Given the description of an element on the screen output the (x, y) to click on. 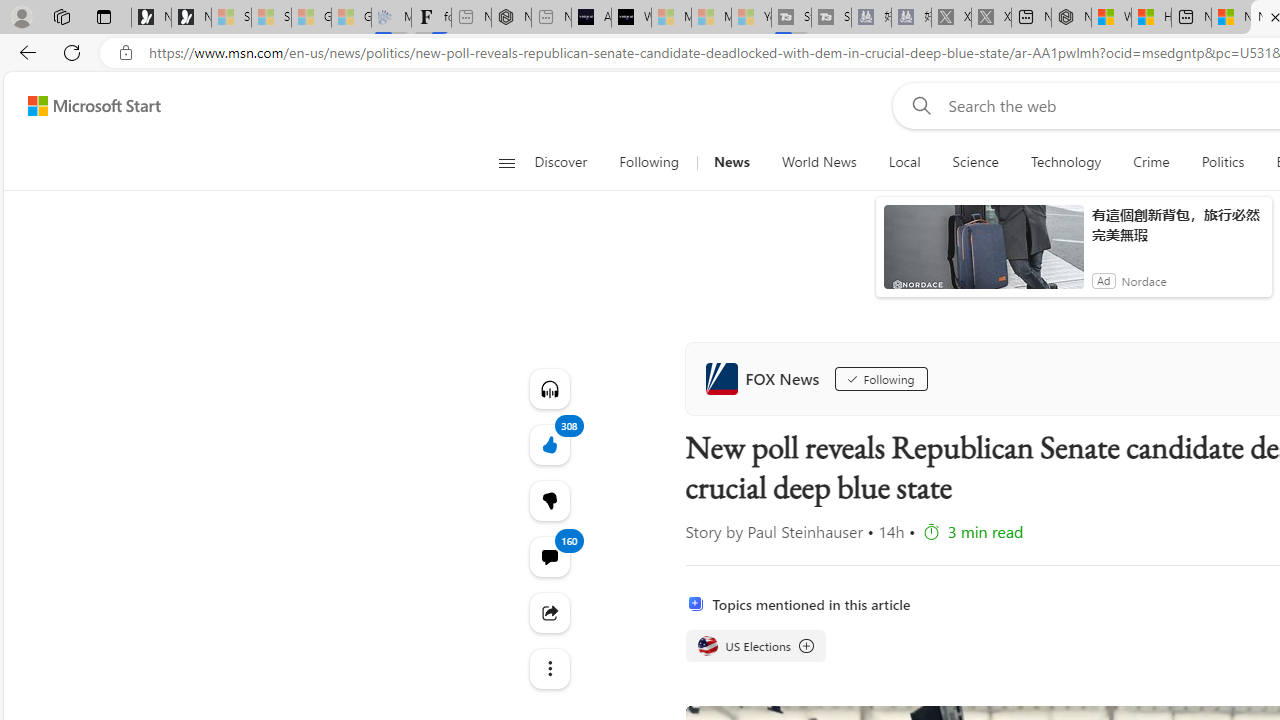
US Elections (707, 645)
More like this308Fewer like thisView comments (548, 500)
Microsoft Start Sports - Sleeping (671, 17)
Science (975, 162)
News (731, 162)
Skip to content (86, 105)
Local (903, 162)
Technology (1065, 162)
View comments 160 Comment (548, 556)
Science (975, 162)
